Given the description of an element on the screen output the (x, y) to click on. 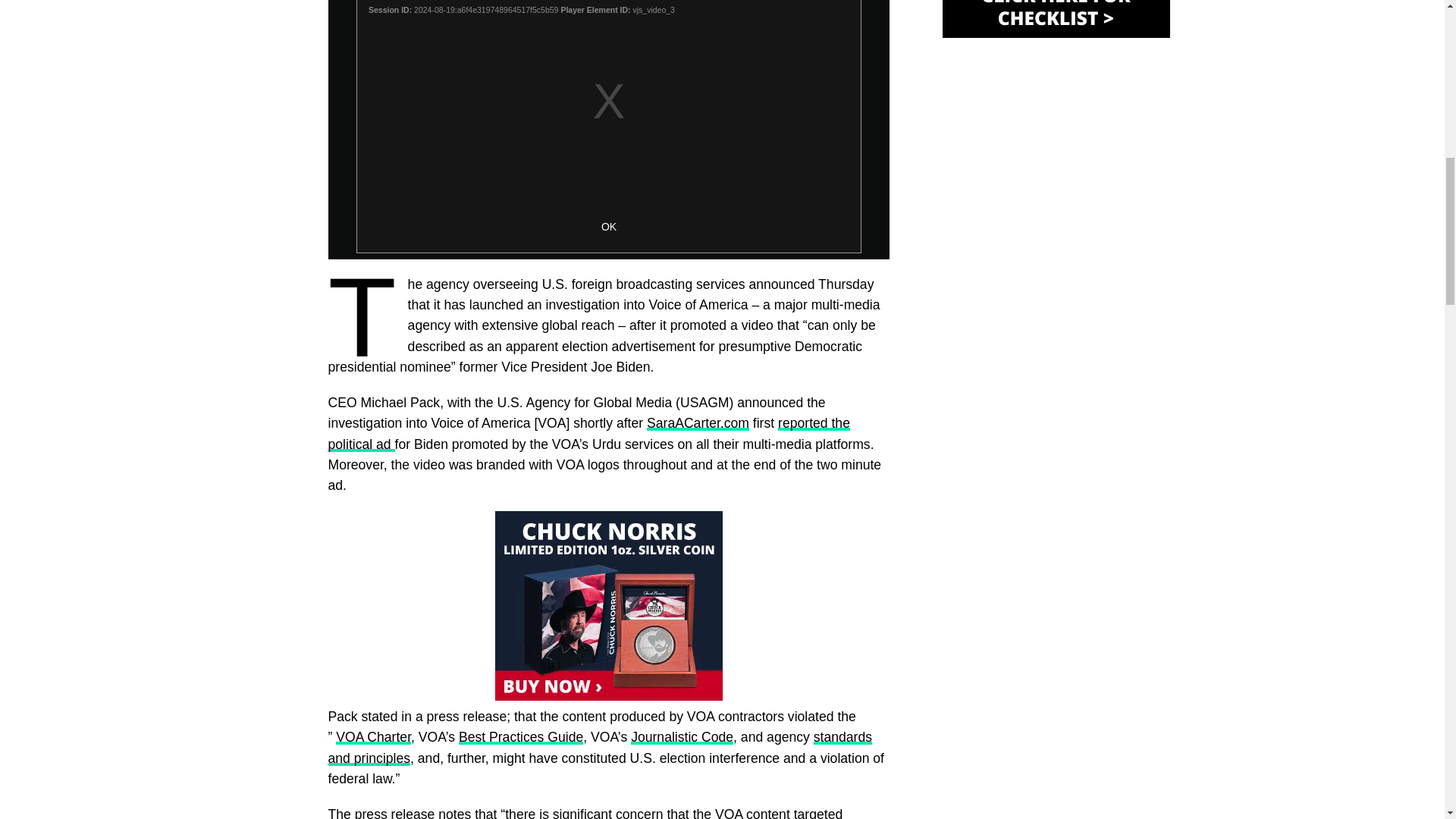
Journalistic Code (681, 736)
Best Practices Guide (520, 736)
VOA Charter (373, 736)
standards and principles (598, 746)
SaraACarter.com (697, 422)
reported the political ad (587, 433)
